Given the description of an element on the screen output the (x, y) to click on. 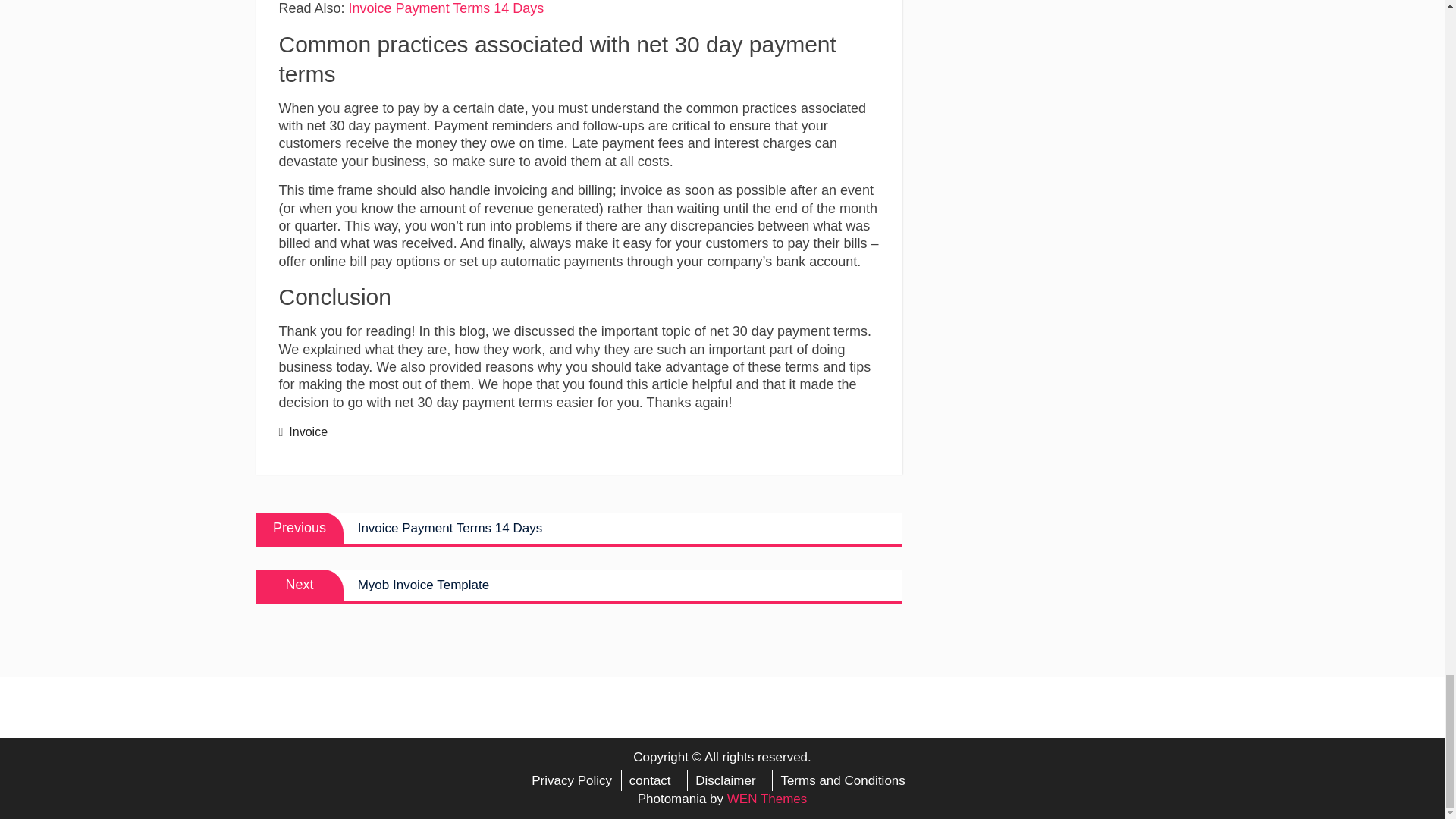
Invoice Payment Terms 14 Days (446, 7)
Invoice (307, 431)
